Given the description of an element on the screen output the (x, y) to click on. 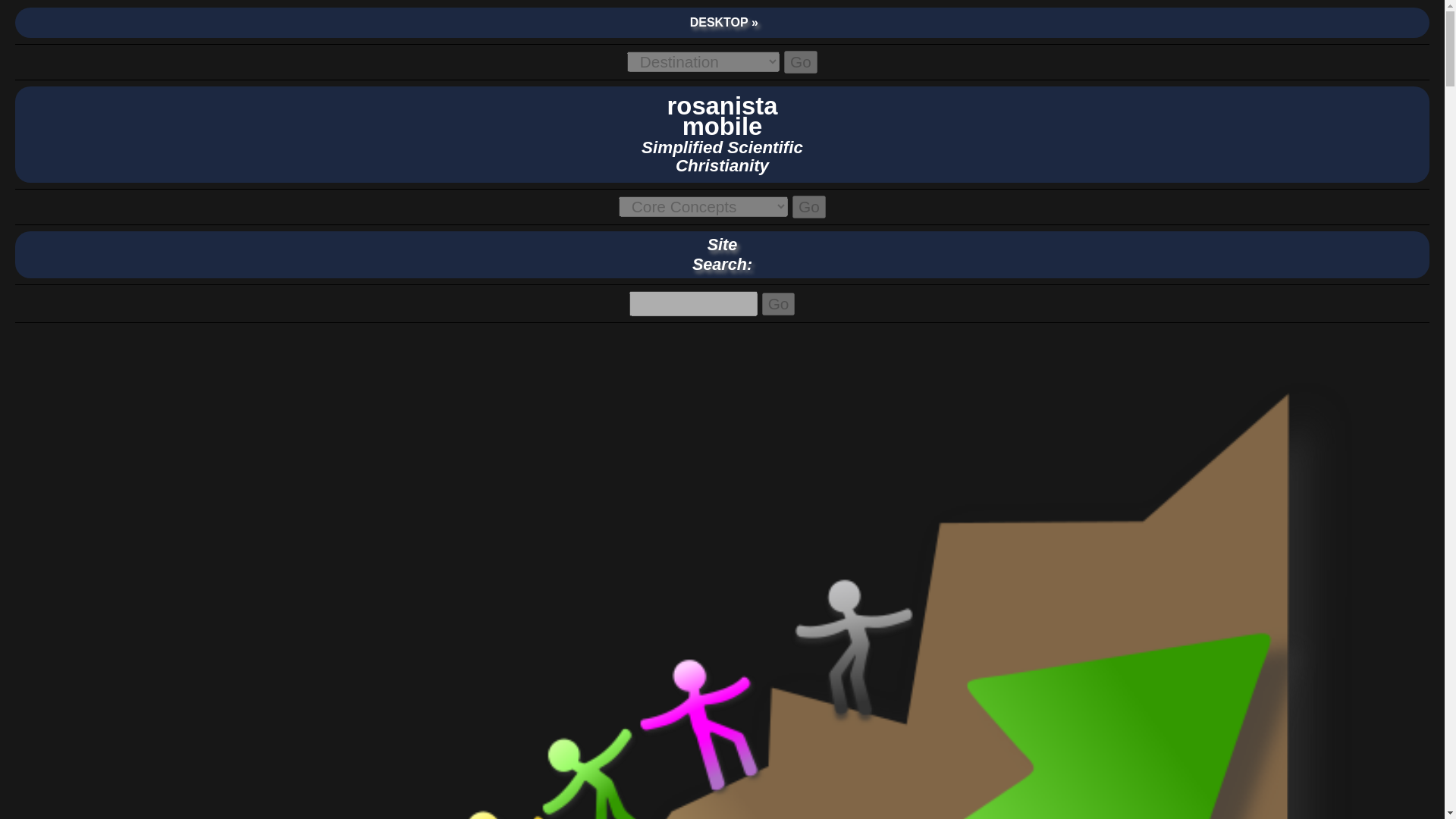
Go (800, 61)
Go (777, 303)
Go (808, 206)
Go (777, 303)
